Given the description of an element on the screen output the (x, y) to click on. 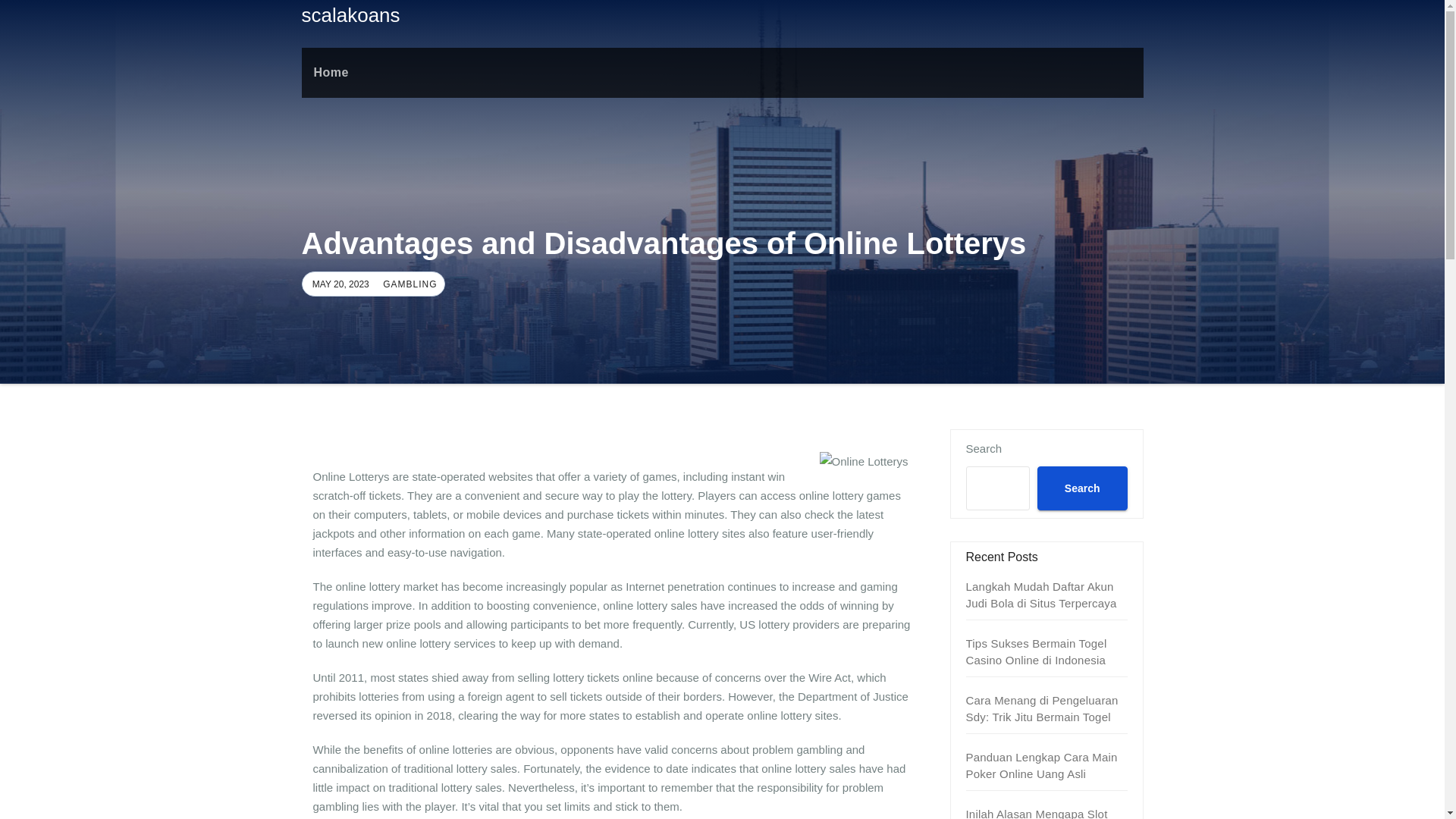
Home (331, 72)
Langkah Mudah Daftar Akun Judi Bola di Situs Terpercaya (1041, 594)
GAMBLING (407, 284)
Search (1081, 488)
Panduan Lengkap Cara Main Poker Online Uang Asli (1042, 765)
Tips Sukses Bermain Togel Casino Online di Indonesia (1036, 651)
scalakoans (350, 15)
Cara Menang di Pengeluaran Sdy: Trik Jitu Bermain Togel (1042, 708)
Home (331, 72)
